Given the description of an element on the screen output the (x, y) to click on. 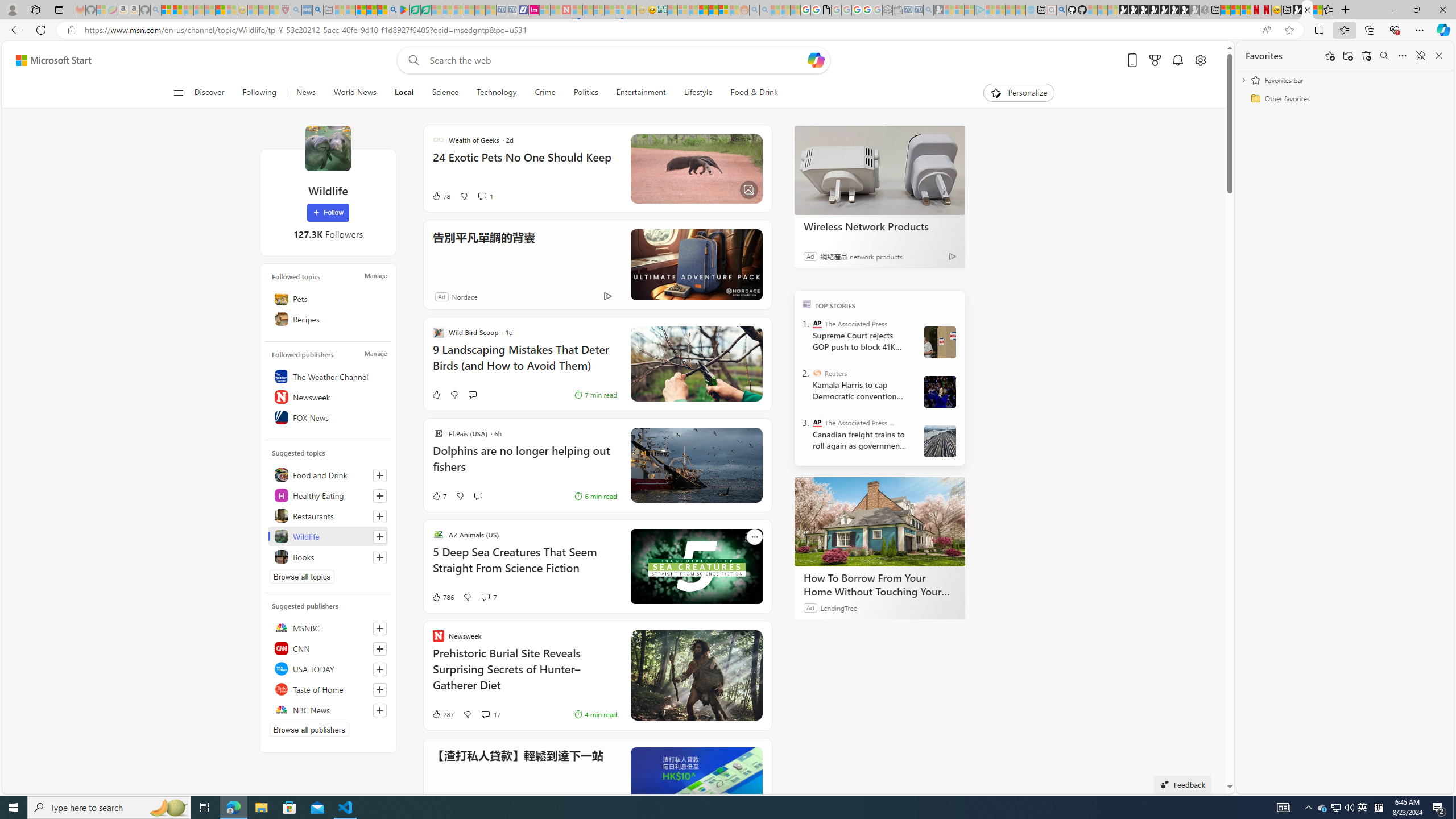
The Associated Press (816, 323)
Taste of Home (327, 688)
FOX News (327, 417)
Close favorites (1439, 55)
Browse all topics (301, 576)
Wireless Network Products (879, 169)
